Given the description of an element on the screen output the (x, y) to click on. 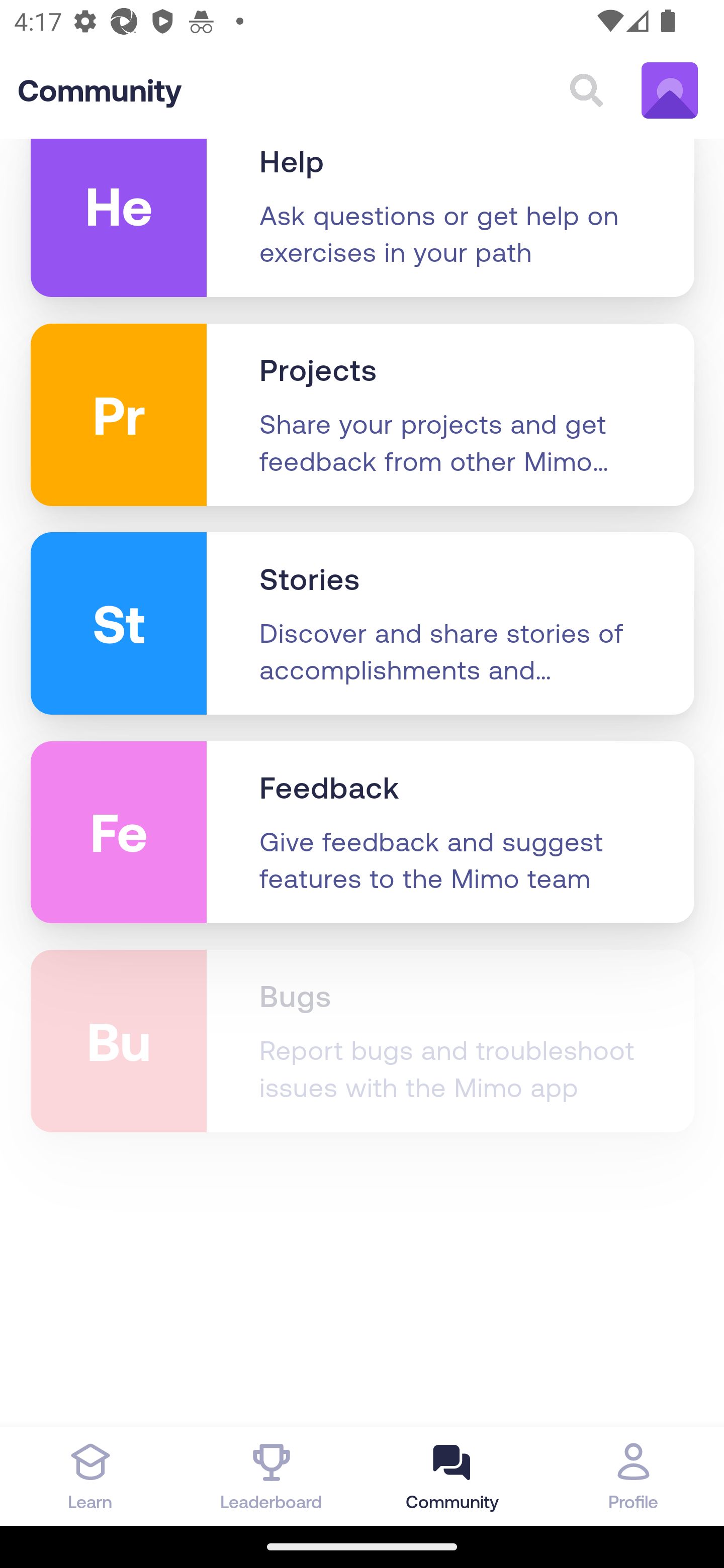
Search (586, 91)
Test Appium's account (669, 91)
Community (100, 91)
Help (291, 163)
Projects (317, 371)
Stories (309, 581)
Feedback (329, 789)
Bugs (295, 997)
Learn (90, 1475)
Leaderboard (271, 1475)
Profile (633, 1475)
